Given the description of an element on the screen output the (x, y) to click on. 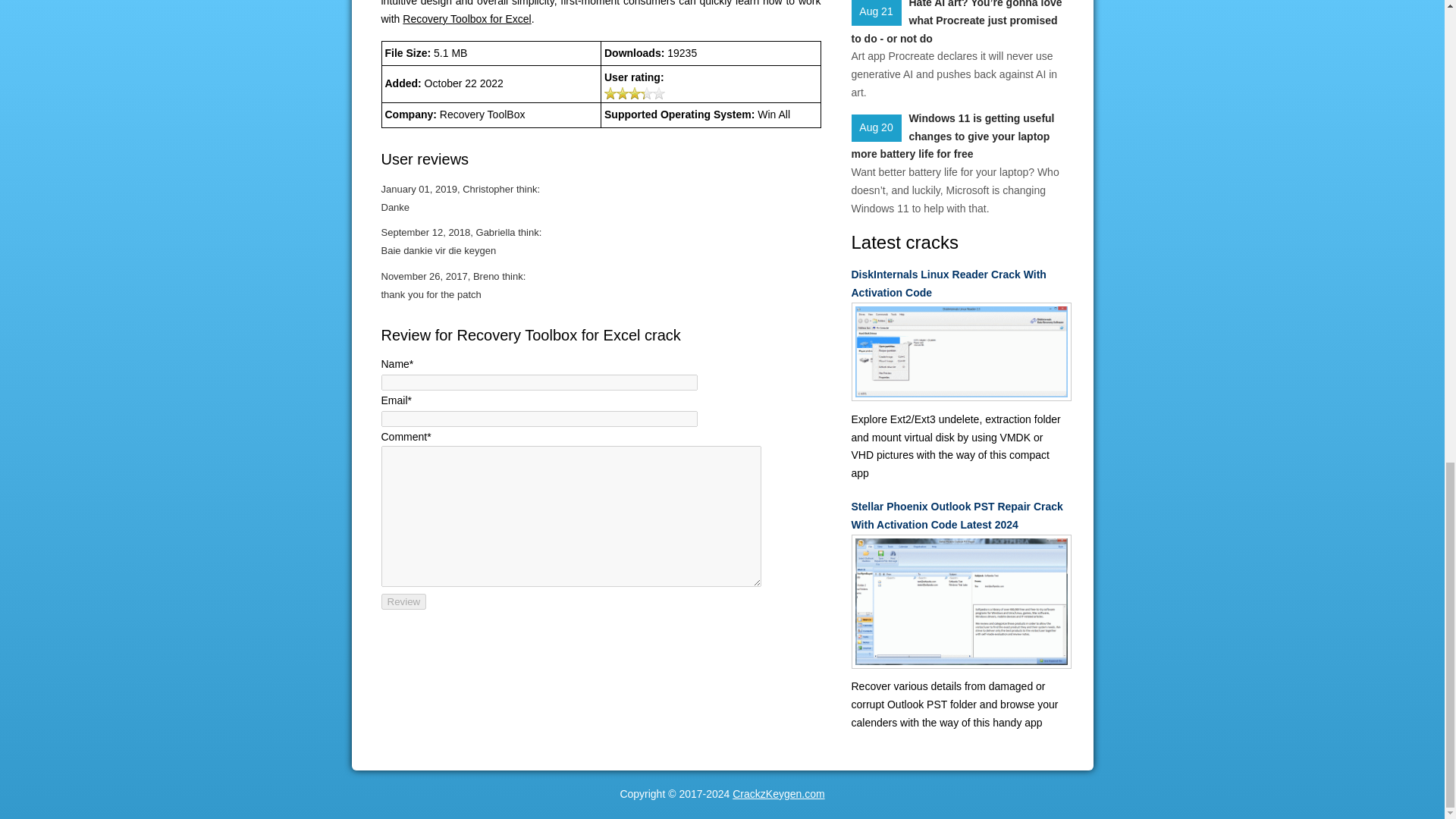
Review (403, 601)
CrackzKeygen.com (778, 793)
Review (403, 601)
DiskInternals Linux Reader Crack With Activation Code (956, 284)
